Given the description of an element on the screen output the (x, y) to click on. 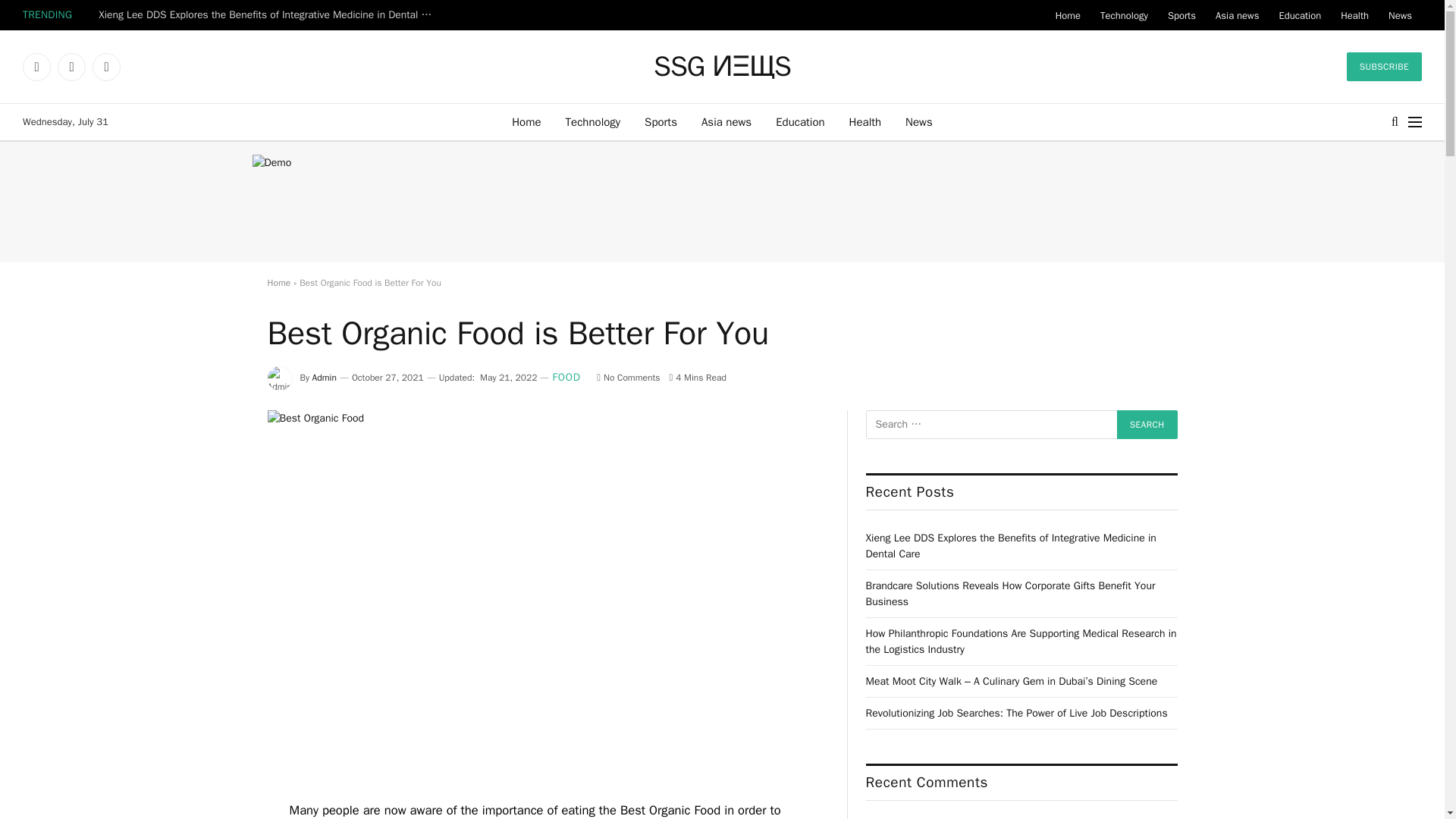
News (918, 122)
Home (1067, 15)
Technology (1123, 15)
Search (1146, 424)
Asia news (725, 122)
Facebook (36, 67)
Sports (1181, 15)
Search (1394, 121)
Home (526, 122)
Sports (659, 122)
Health (1354, 15)
Asia news (1236, 15)
Technology (593, 122)
Health (865, 122)
